Given the description of an element on the screen output the (x, y) to click on. 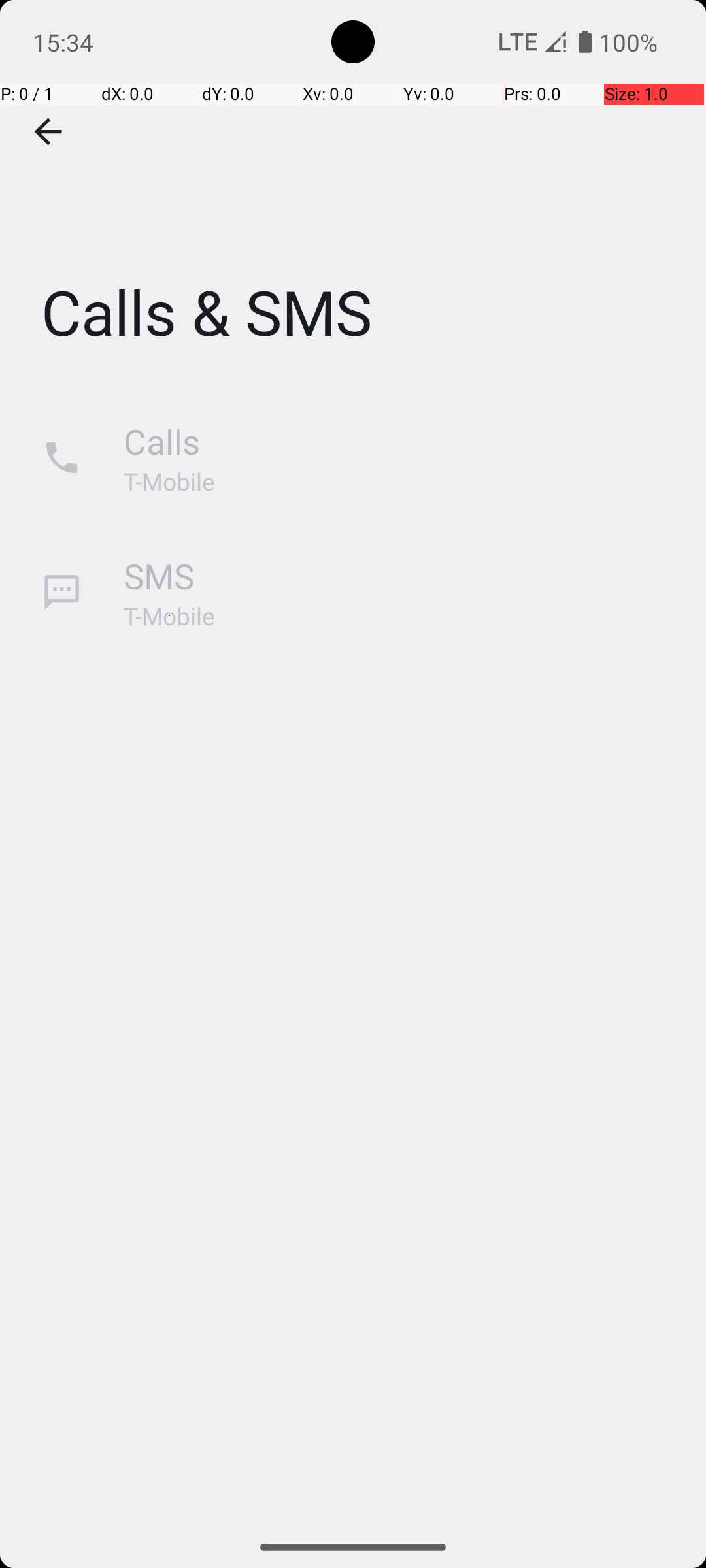
Calls Element type: android.widget.TextView (161, 441)
